Given the description of an element on the screen output the (x, y) to click on. 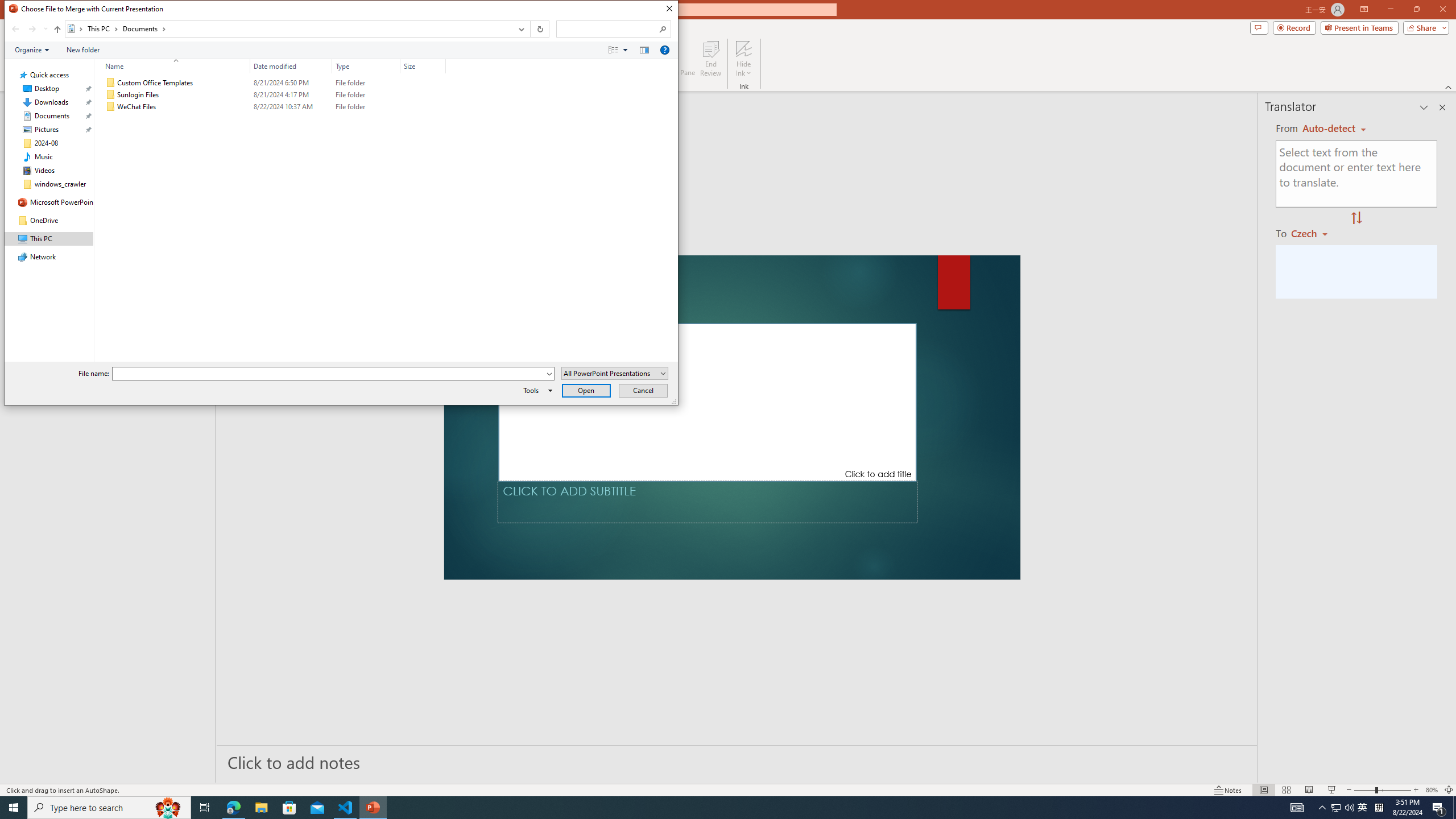
View Slider (625, 49)
Cancel (643, 390)
Date modified (290, 106)
Class: UIImage (111, 106)
Command Module (341, 49)
Back (Alt + Left Arrow) (15, 28)
All locations (75, 28)
Running applications (707, 807)
Slide Notes (737, 761)
